Given the description of an element on the screen output the (x, y) to click on. 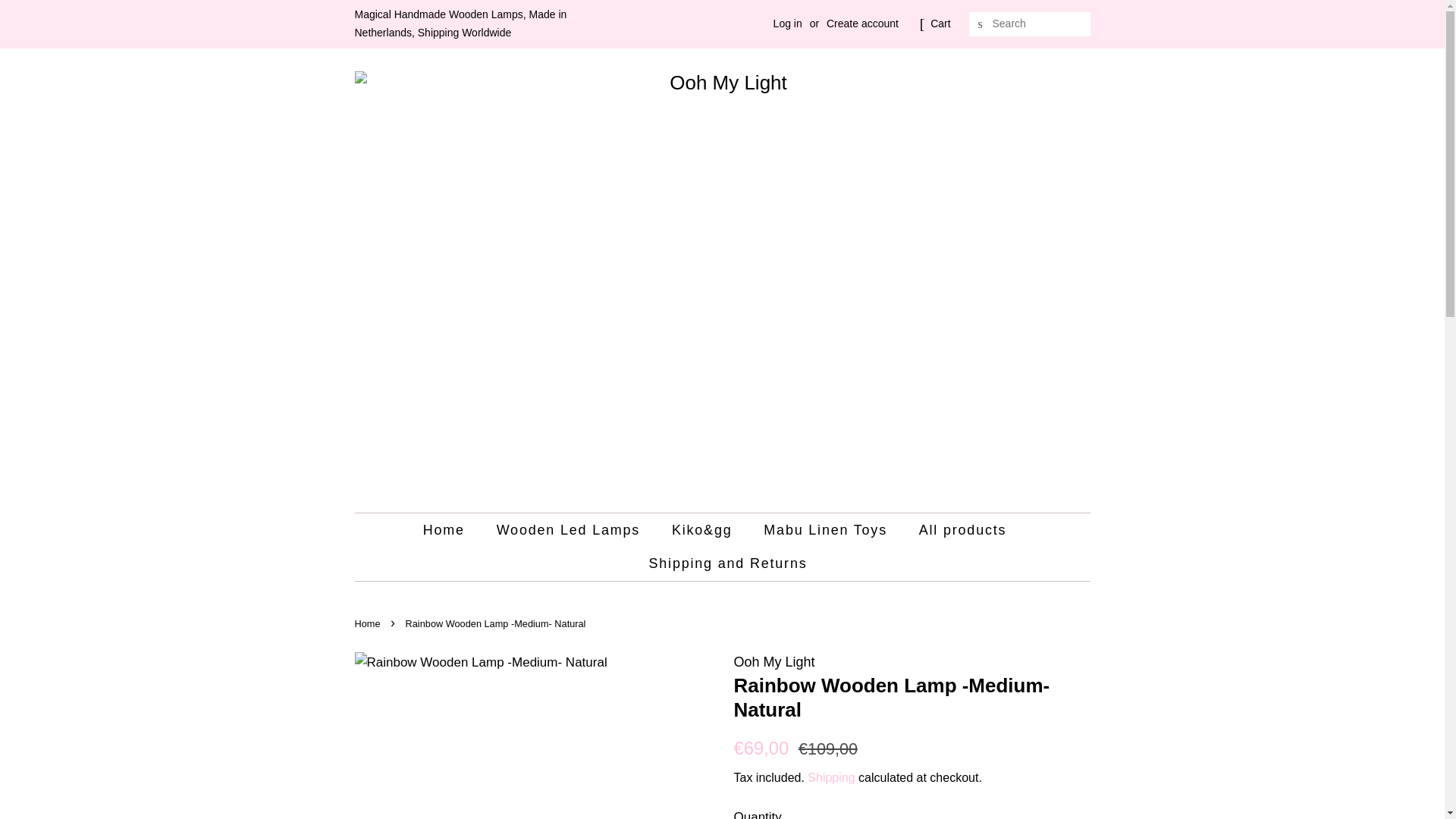
All products (964, 530)
Cart (940, 24)
Create account (862, 23)
Home (369, 623)
Wooden Led Lamps (569, 530)
Shipping and Returns (722, 563)
Back to the frontpage (369, 623)
Search (980, 24)
Log in (787, 23)
Home (451, 530)
Mabu Linen Toys (827, 530)
Shipping (831, 777)
